Given the description of an element on the screen output the (x, y) to click on. 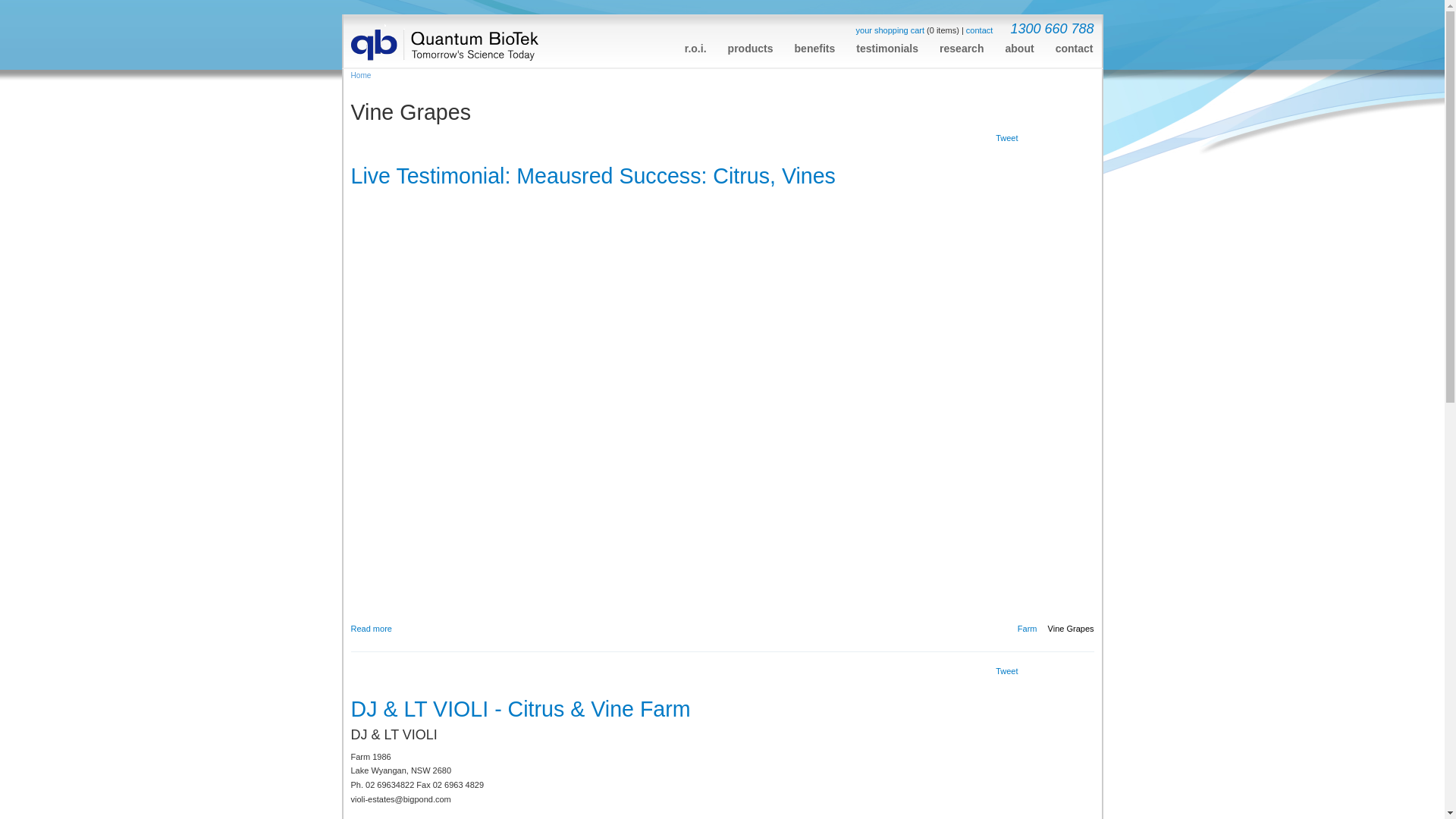
benefits Element type: text (814, 44)
Tweet Element type: text (1006, 138)
testimonials Element type: text (887, 44)
Home Element type: text (360, 75)
research Element type: text (961, 44)
products Element type: text (750, 44)
contact Element type: text (1074, 44)
Read more Element type: text (370, 628)
Vine Grapes Element type: text (1071, 628)
r.o.i. Element type: text (695, 44)
DJ & LT VIOLI - Citrus & Vine Farm Element type: text (520, 708)
Farm Element type: text (1027, 628)
Tweet Element type: text (1006, 671)
contact Element type: text (979, 29)
your shopping cart Element type: text (890, 29)
Live Testimonial: Meausred Success: Citrus, Vines Element type: text (592, 175)
about Element type: text (1019, 44)
